Given the description of an element on the screen output the (x, y) to click on. 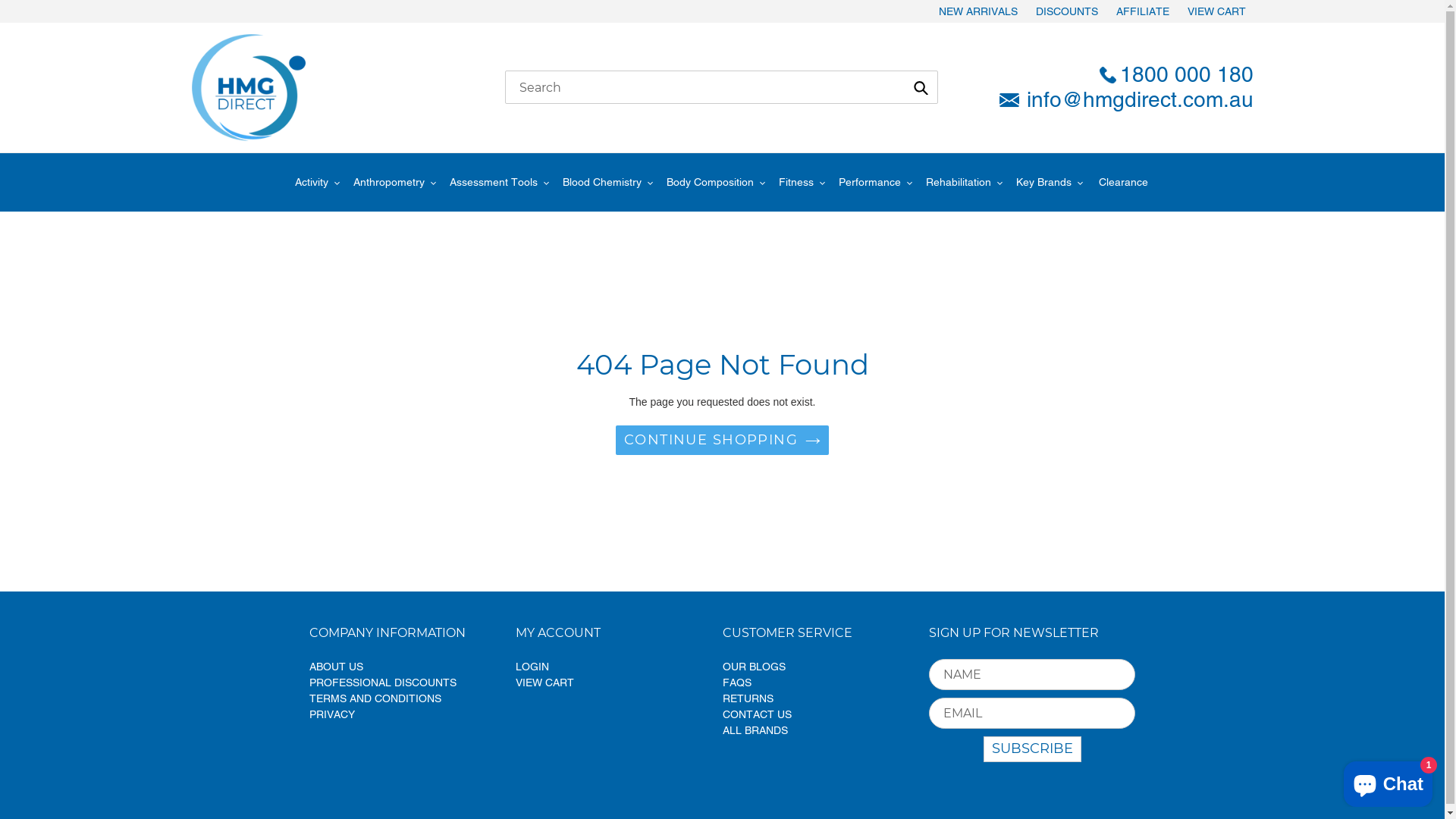
Assessment Tools Element type: text (499, 182)
NEW ARRIVALS Element type: text (978, 10)
TERMS AND CONDITIONS Element type: text (375, 698)
Key Brands Element type: text (1043, 181)
VIEW CART Element type: text (544, 682)
Anthropometry Element type: text (388, 181)
VIEW CART Element type: text (1216, 10)
Fitness Element type: text (795, 181)
1800 000 180 Element type: text (1119, 74)
Blood Chemistry Element type: text (606, 182)
CONTINUE SHOPPING Element type: text (721, 440)
CONTACT US Element type: text (755, 714)
Activity Element type: text (317, 182)
Anthropometry Element type: text (393, 182)
FAQS Element type: text (735, 682)
Body Composition Element type: text (709, 181)
ABOUT US Element type: text (336, 666)
OUR BLOGS Element type: text (752, 666)
PROFESSIONAL DISCOUNTS Element type: text (382, 682)
AFFILIATE Element type: text (1142, 10)
Submit Element type: text (920, 86)
Rehabilitation Element type: text (963, 182)
Body Composition Element type: text (715, 182)
Activity Element type: text (310, 181)
PRIVACY Element type: text (331, 714)
Performance Element type: text (869, 181)
Assessment Tools Element type: text (492, 181)
Clearance Element type: text (1122, 182)
Blood Chemistry Element type: text (601, 181)
info@hmgdirect.com.au Element type: text (1119, 99)
LOGIN Element type: text (532, 666)
Key Brands Element type: text (1048, 182)
DISCOUNTS Element type: text (1066, 10)
ALL BRANDS Element type: text (754, 730)
Shopify online store chat Element type: hover (1388, 780)
RETURNS Element type: text (746, 698)
Fitness Element type: text (801, 182)
Rehabilitation Element type: text (957, 181)
SUBSCRIBE Element type: text (1031, 749)
Performance Element type: text (874, 182)
